Given the description of an element on the screen output the (x, y) to click on. 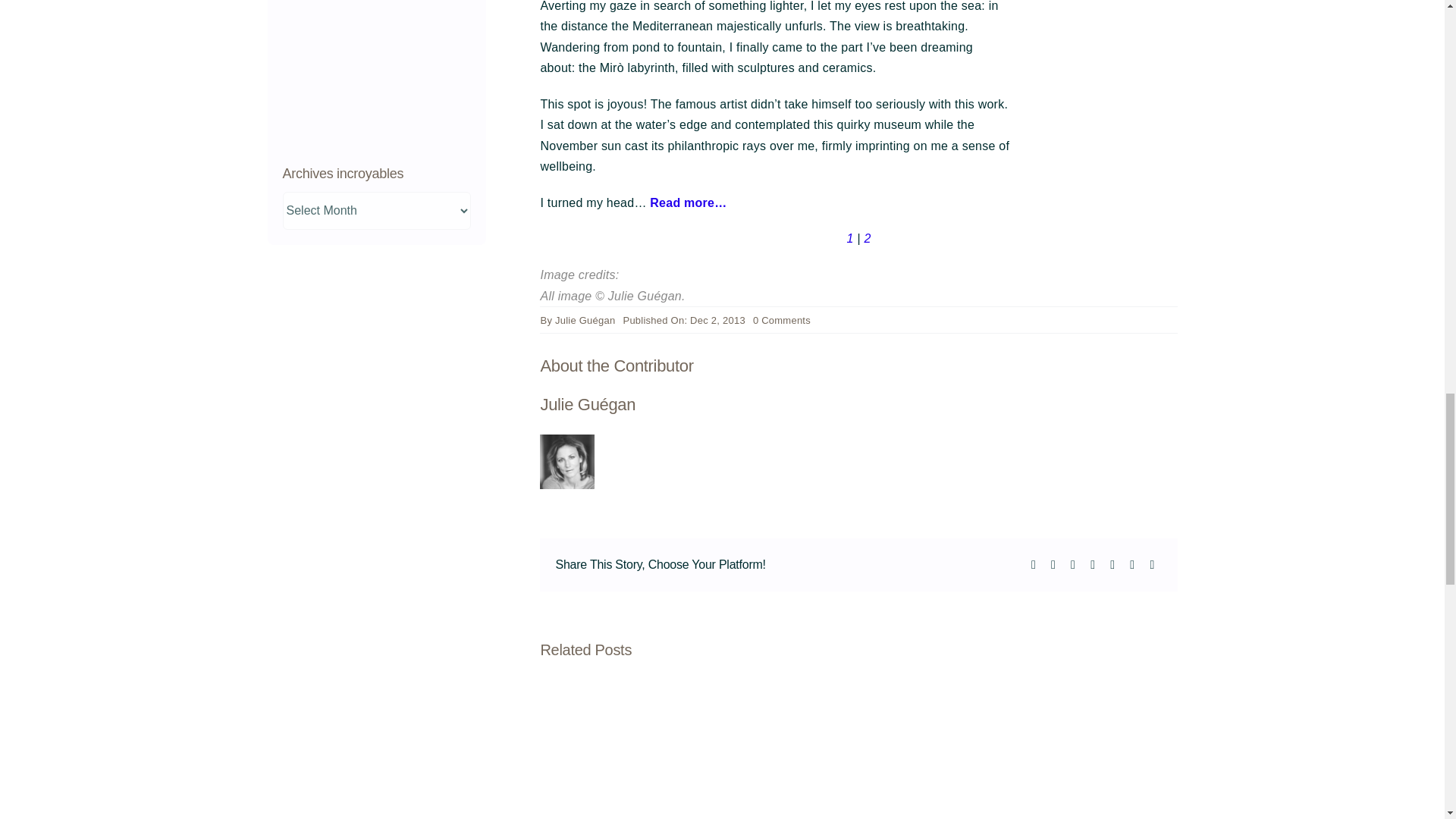
2 (866, 237)
1 (849, 237)
